Given the description of an element on the screen output the (x, y) to click on. 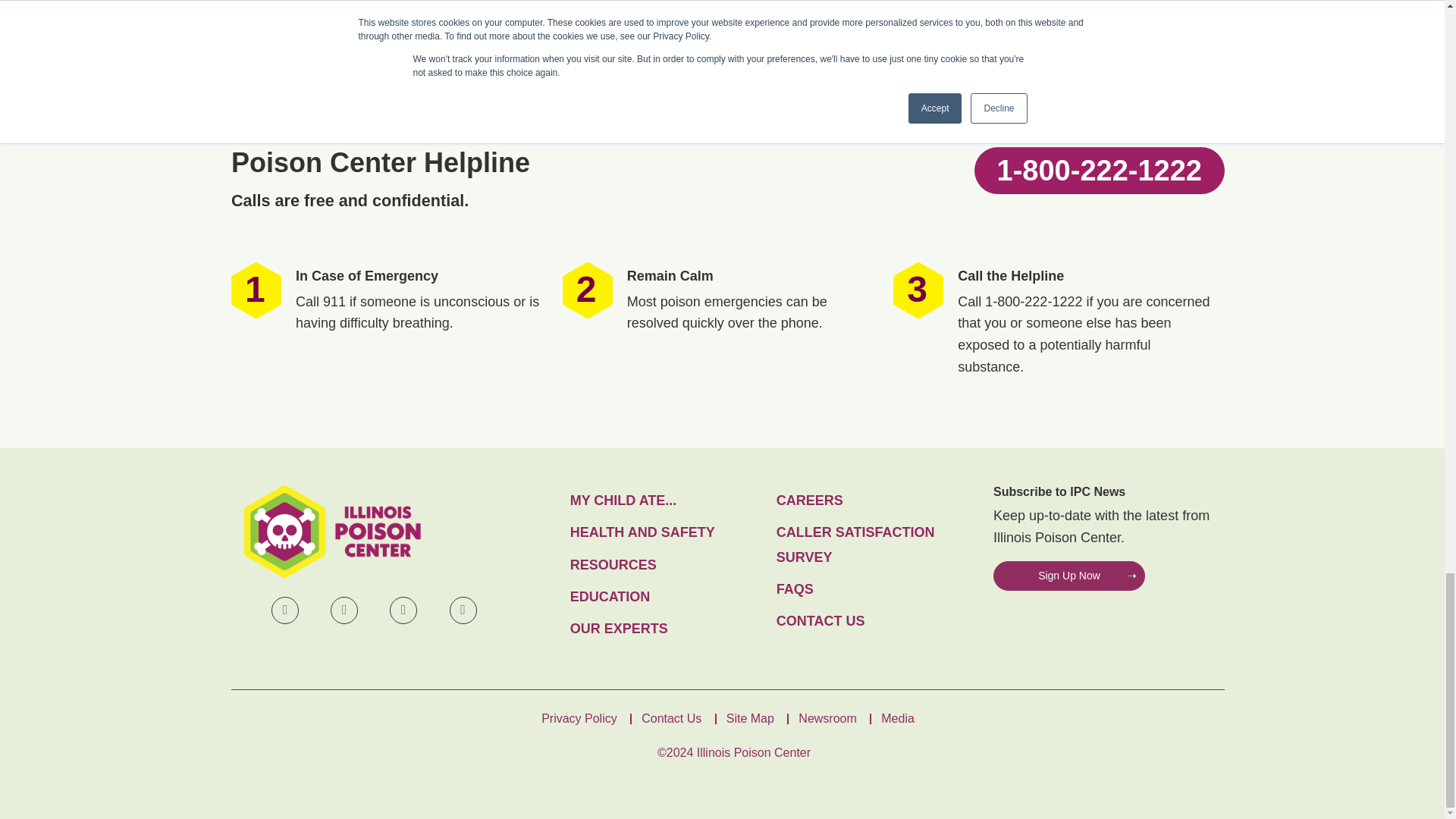
Sign Up Now (1068, 576)
OUR EXPERTS (667, 628)
EDUCATION (667, 596)
IPC Blog (463, 610)
IPC on YouTube (403, 610)
IPC on Facebook (284, 610)
IPC Blog (463, 610)
1-800-222-1222 (1099, 170)
HEALTH AND SAFETY (667, 531)
IPC on Twitter (344, 610)
